Given the description of an element on the screen output the (x, y) to click on. 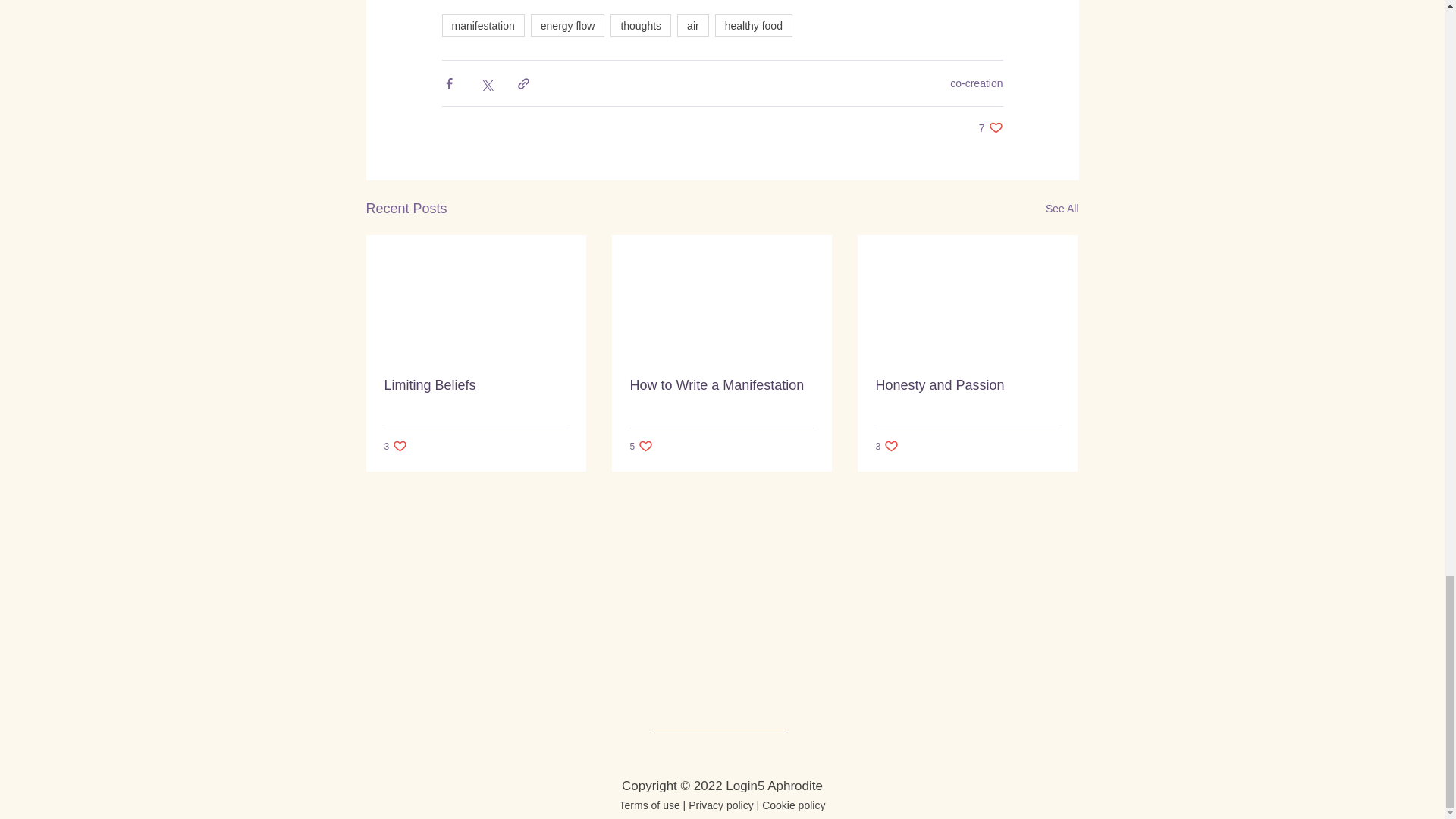
co-creation (990, 127)
Limiting Beliefs (976, 82)
healthy food (475, 385)
manifestation (753, 25)
energy flow (482, 25)
Honesty and Passion (568, 25)
How to Write a Manifestation (966, 385)
See All (720, 385)
air (1061, 209)
